Given the description of an element on the screen output the (x, y) to click on. 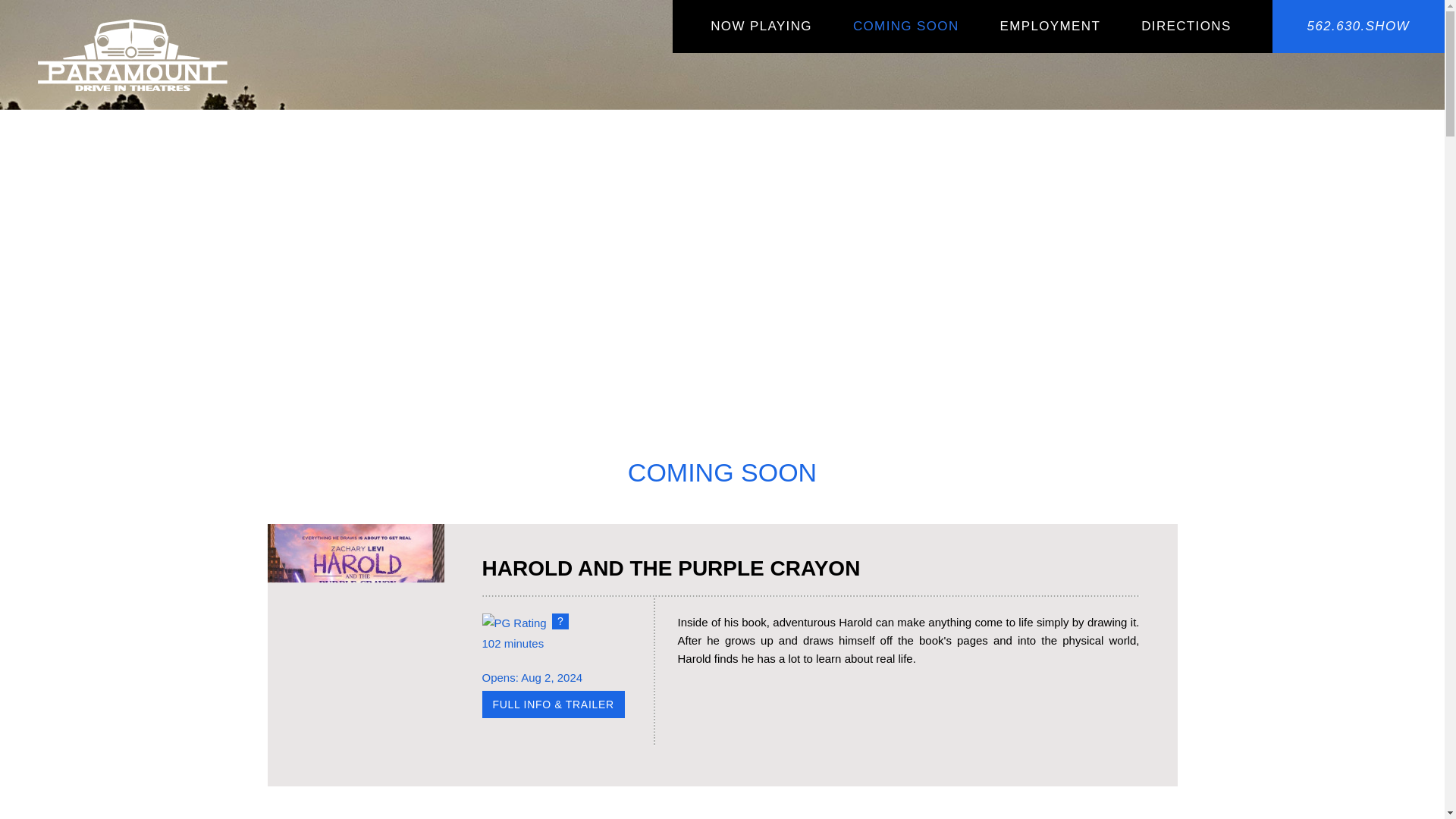
EMPLOYMENT (1050, 25)
Rated PG for mild action and thematic elements. (560, 621)
COMING SOON (906, 25)
NOW PLAYING (761, 25)
? (560, 621)
562.630.SHOW (1358, 25)
DIRECTIONS (1185, 25)
